Given the description of an element on the screen output the (x, y) to click on. 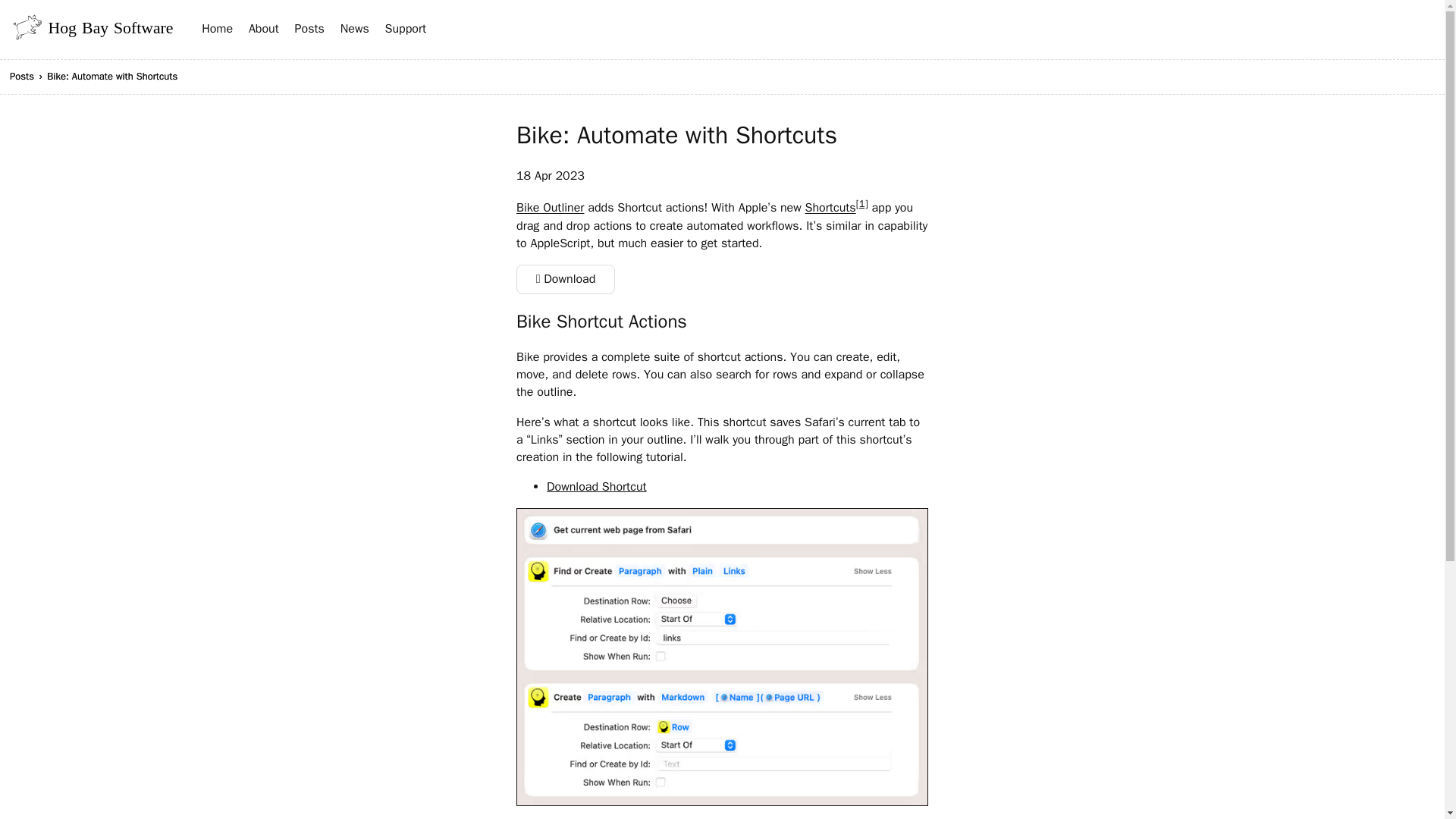
Download (565, 279)
About (263, 28)
Bike: Automate with Shortcuts (111, 75)
Posts (21, 75)
News (354, 28)
Download Shortcut (596, 486)
Posts (309, 28)
Shortcuts (830, 208)
Support (405, 28)
Bike Outliner (549, 208)
